Given the description of an element on the screen output the (x, y) to click on. 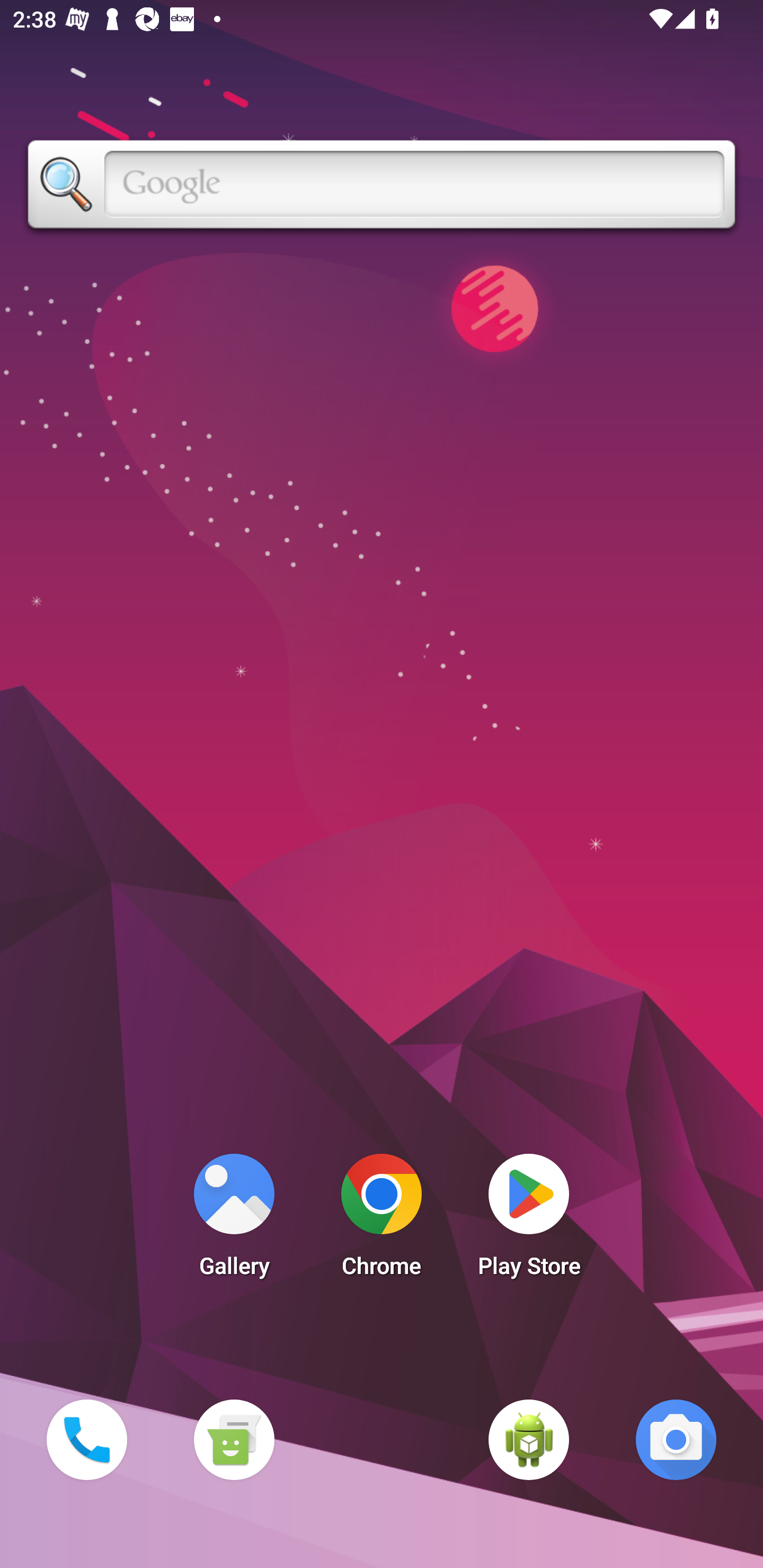
Gallery (233, 1220)
Chrome (381, 1220)
Play Store (528, 1220)
Phone (86, 1439)
Messaging (233, 1439)
WebView Browser Tester (528, 1439)
Camera (676, 1439)
